Given the description of an element on the screen output the (x, y) to click on. 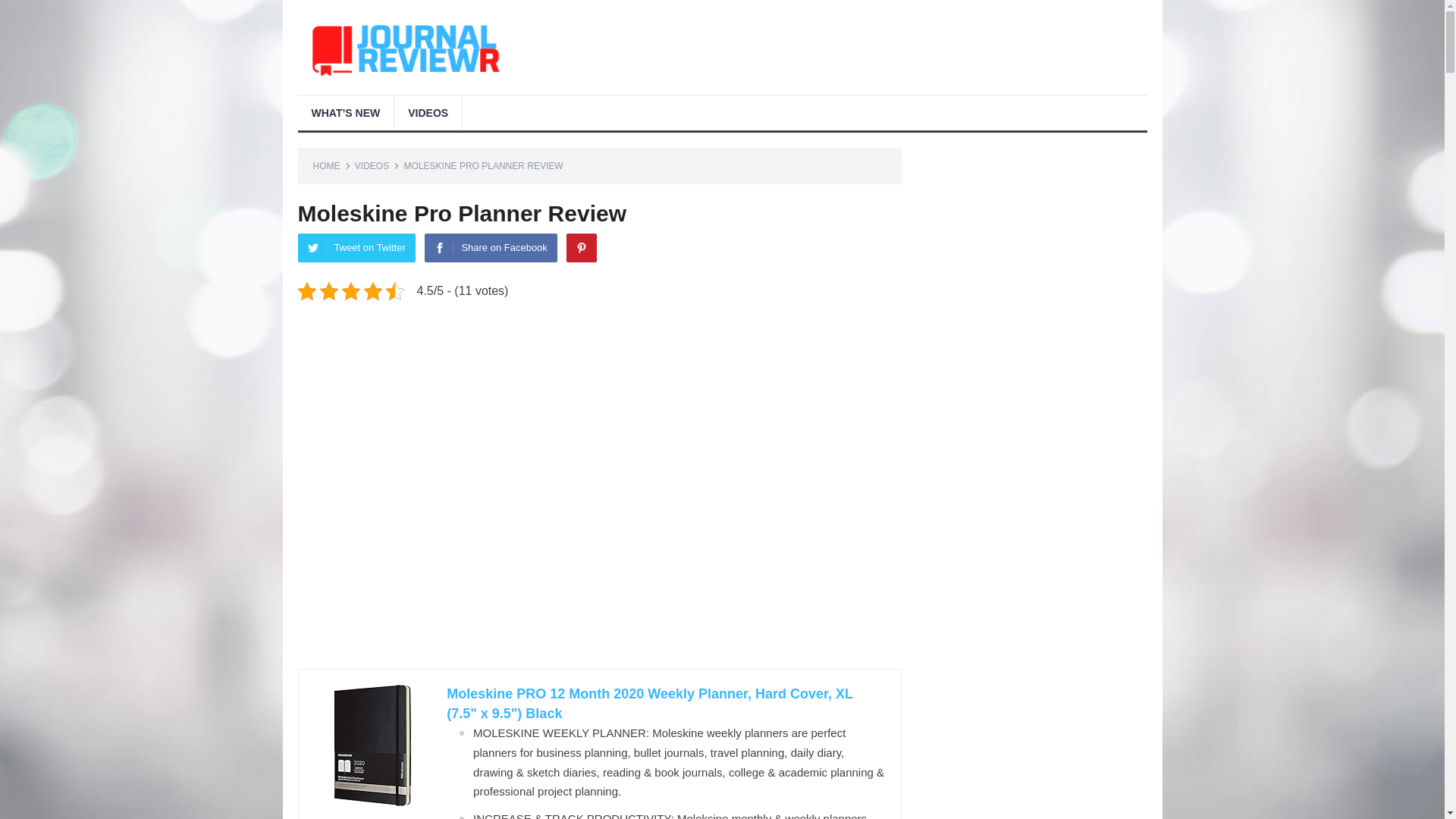
Pinterest (581, 247)
View all posts in Videos (376, 165)
Share on Facebook (490, 247)
VIDEOS (427, 112)
VIDEOS (376, 165)
Tweet on Twitter (355, 247)
HOME (331, 165)
